Given the description of an element on the screen output the (x, y) to click on. 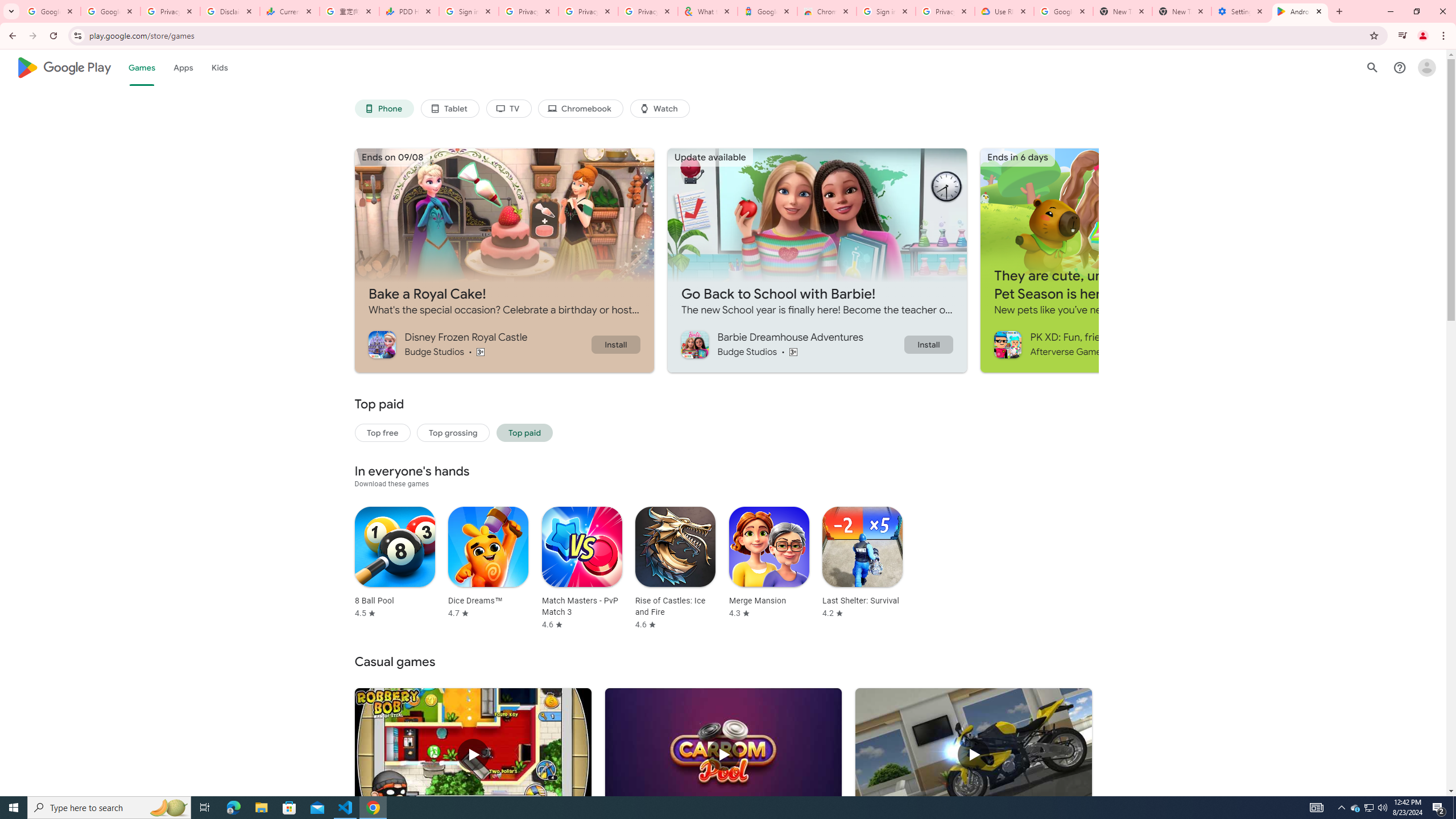
Kids (219, 67)
Settings - System (1241, 11)
Top grossing (452, 432)
TV (508, 108)
Merge Mansion Rated 4.3 stars out of five stars (768, 562)
PDD Holdings Inc - ADR (PDD) Price & News - Google Finance (409, 11)
Install (928, 343)
Google Play logo (64, 67)
